Given the description of an element on the screen output the (x, y) to click on. 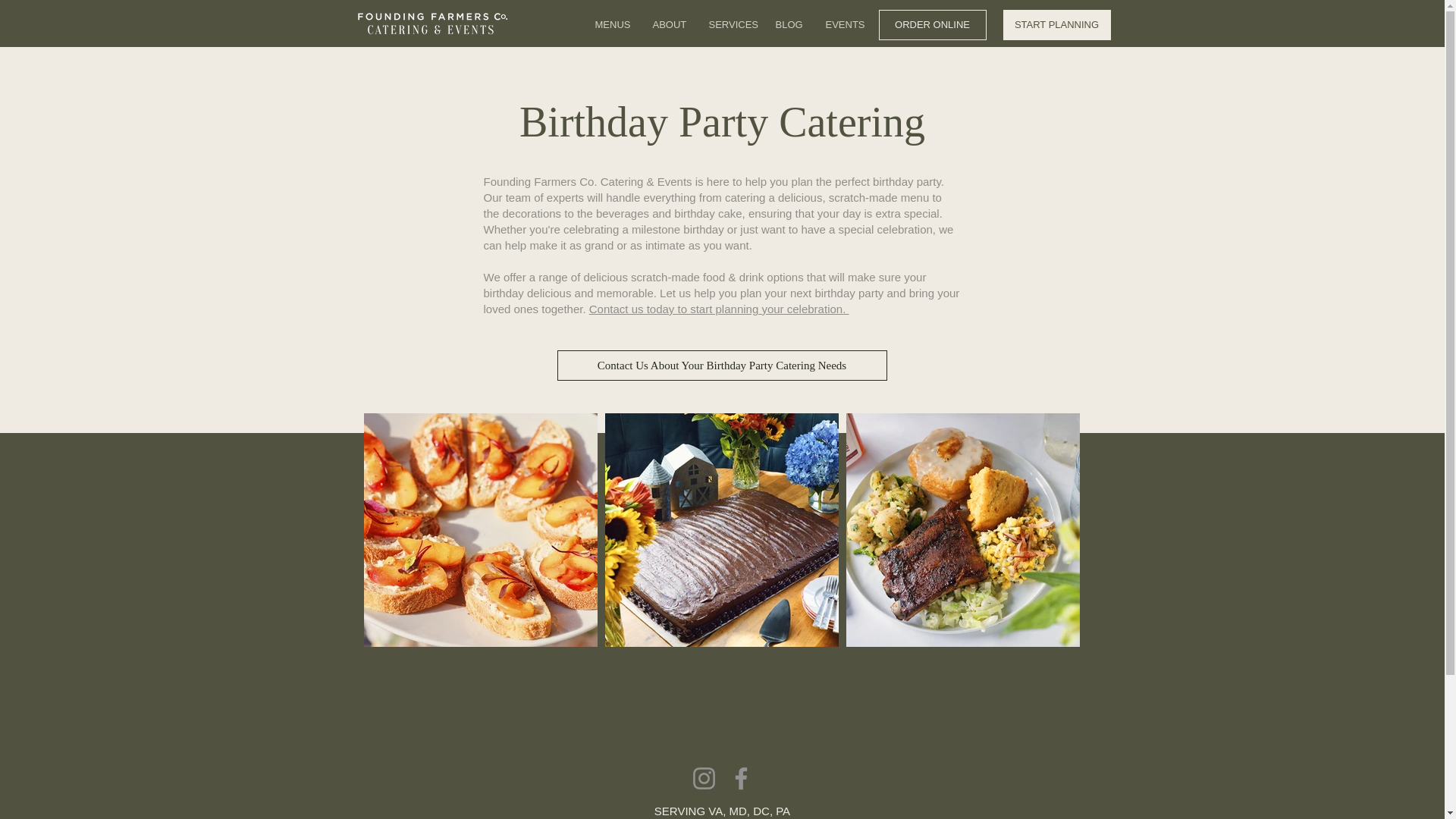
START PLANNING (1056, 24)
ABOUT (669, 24)
Contact us today to start planning your celebration.  (718, 308)
PA (783, 810)
MD (737, 810)
SERVICES (730, 24)
EVENTS (843, 24)
DC (761, 810)
MENUS (612, 24)
ORDER ONLINE (931, 24)
VA (714, 810)
BLOG (788, 24)
Contact Us About Your Birthday Party Catering Needs (721, 365)
